Given the description of an element on the screen output the (x, y) to click on. 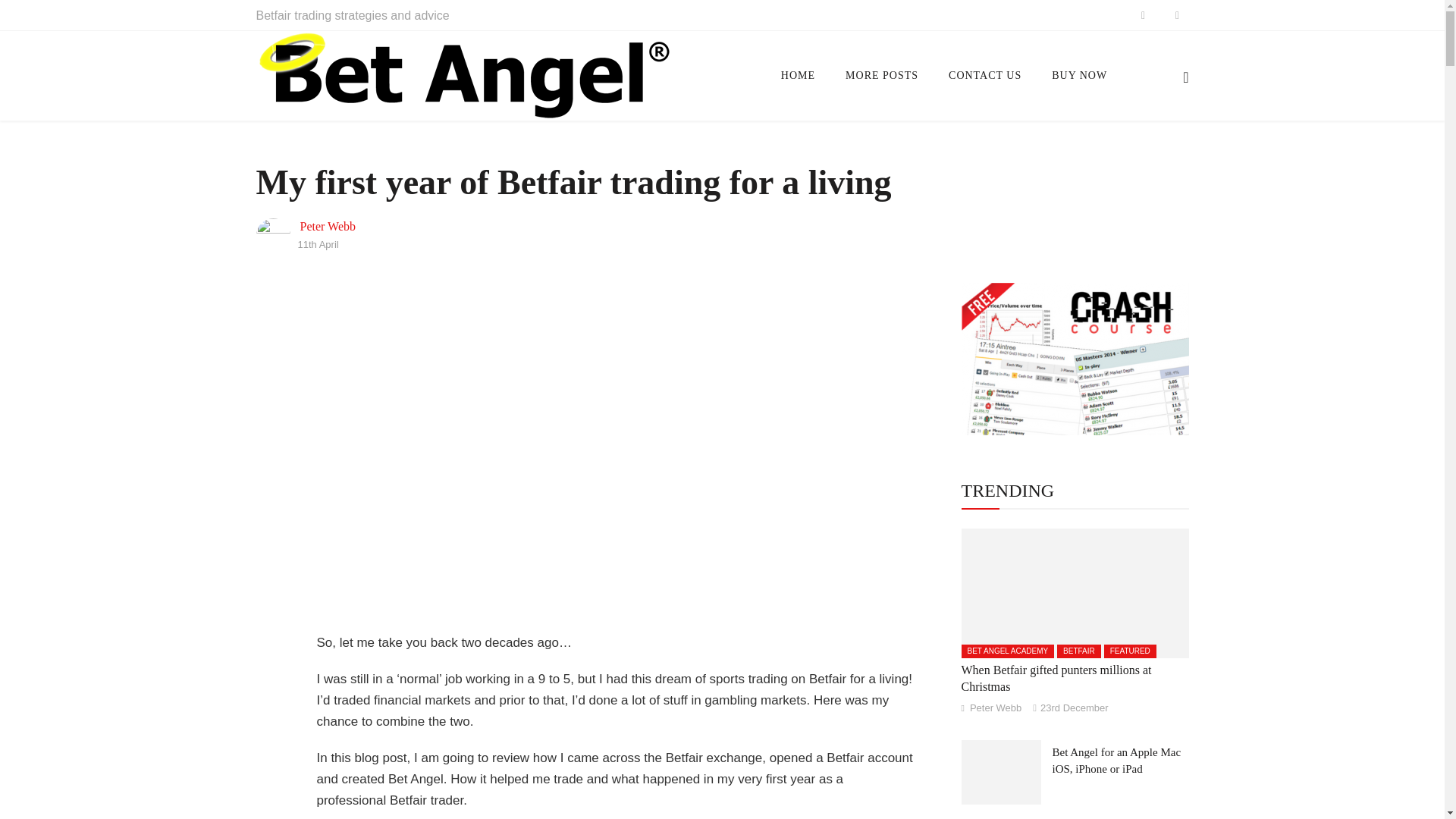
Betfair trading strategies and advice (352, 15)
ion-social-facebook (1142, 15)
BUY NOW (1079, 75)
MORE POSTS (881, 75)
Peter Webb (327, 226)
11th April (317, 244)
ion-social-twitter (1177, 15)
HOME (797, 75)
CONTACT US (984, 75)
